Given the description of an element on the screen output the (x, y) to click on. 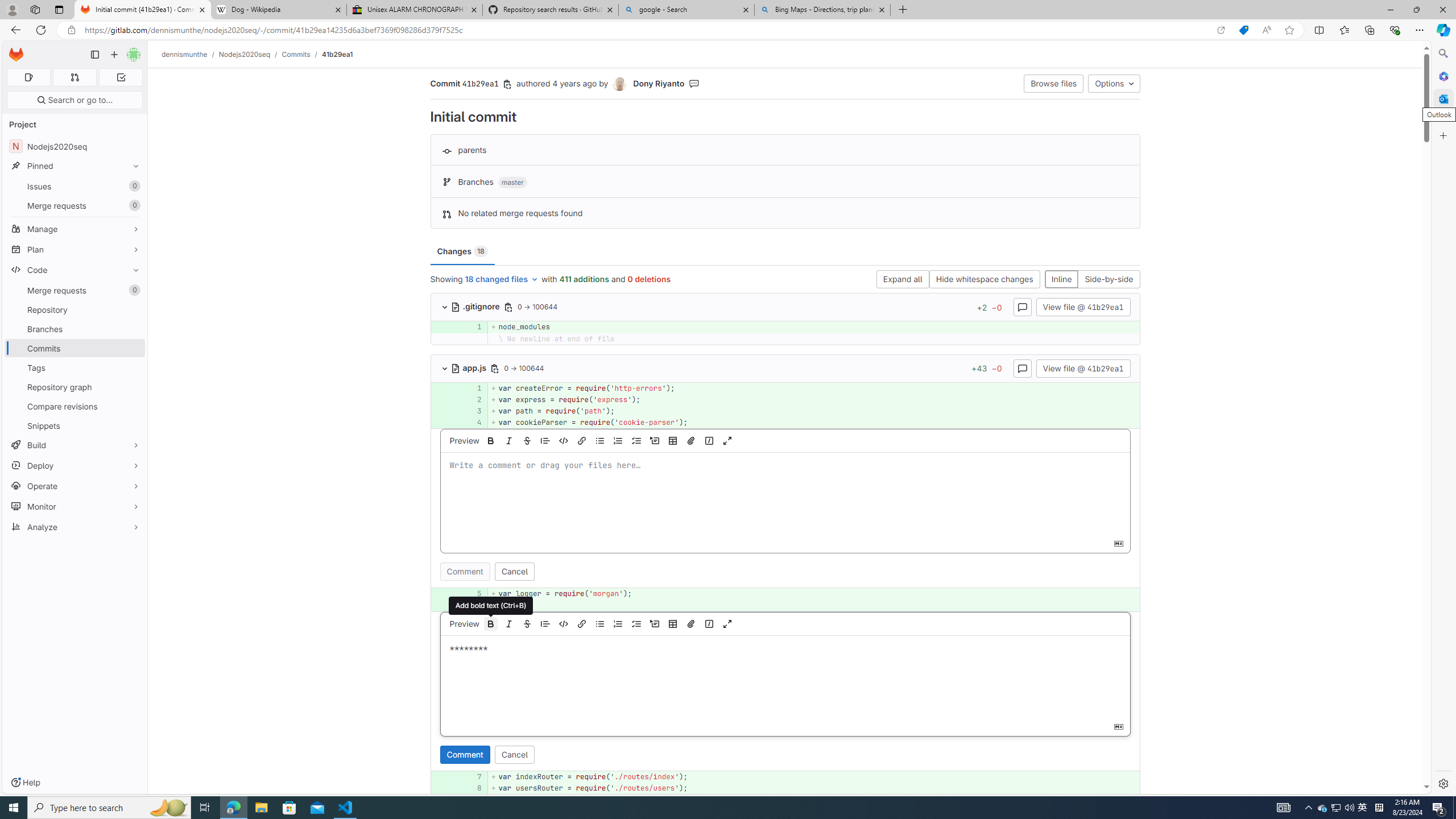
+ var logger = require('morgan');  (813, 594)
Add a table (672, 623)
Attach a file or image (690, 623)
Issues0 (74, 185)
Add a collapsible section (654, 623)
Pin Repository (132, 309)
AutomationID: 4a68969ef8e858229267b842dedf42ab5dde4d50_0_4 (785, 422)
Create new... (113, 54)
Add italic text (Ctrl+I) (508, 623)
Branches (74, 328)
+  (813, 605)
Monitor (74, 506)
